Given the description of an element on the screen output the (x, y) to click on. 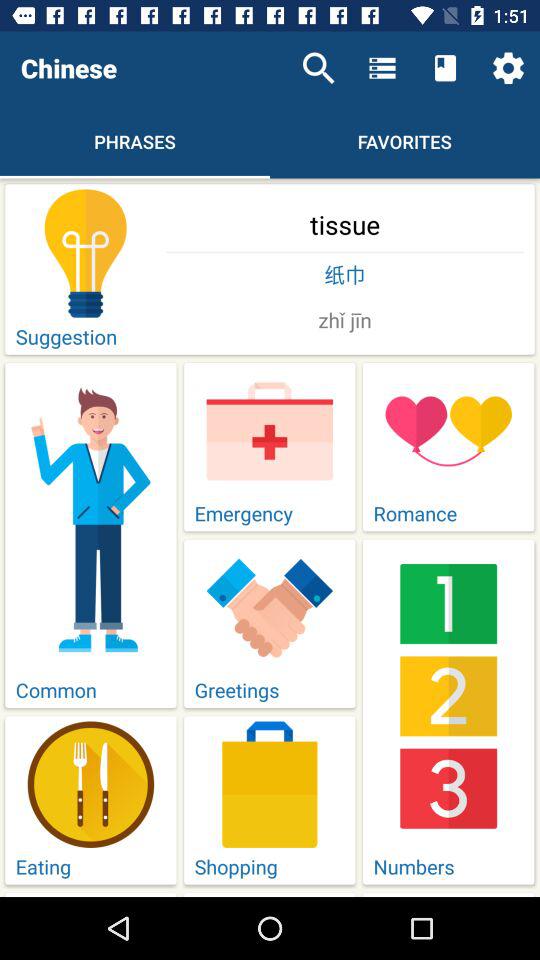
click icon above the tissue (508, 67)
